Given the description of an element on the screen output the (x, y) to click on. 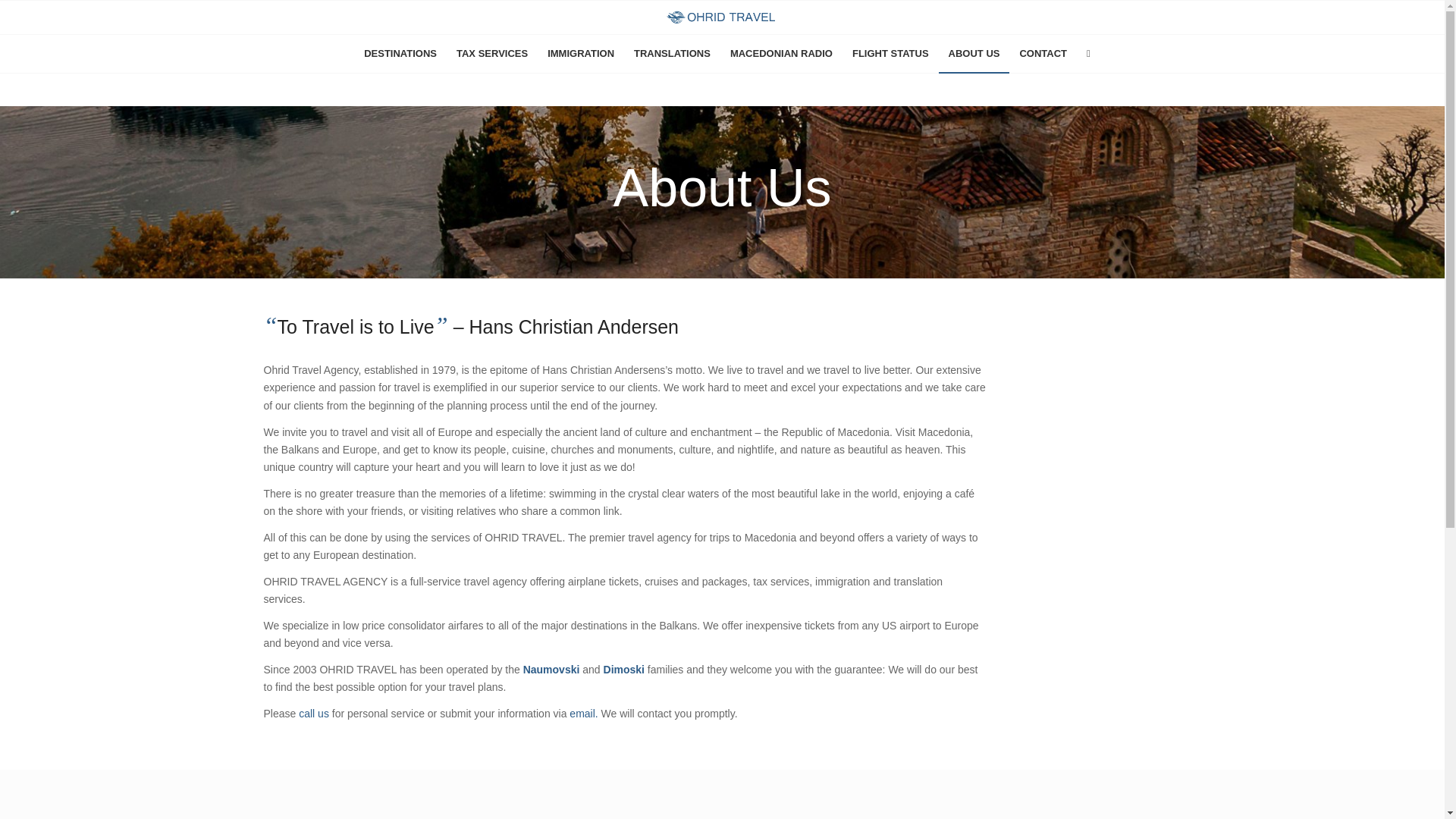
TAX SERVICES (491, 53)
DESTINATIONS (399, 53)
FLIGHT STATUS (891, 53)
email. (584, 713)
CONTACT (1043, 53)
MACEDONIAN RADIO (781, 53)
ABOUT US (974, 53)
TRANSLATIONS (672, 53)
call us (314, 714)
IMMIGRATION (580, 53)
